Given the description of an element on the screen output the (x, y) to click on. 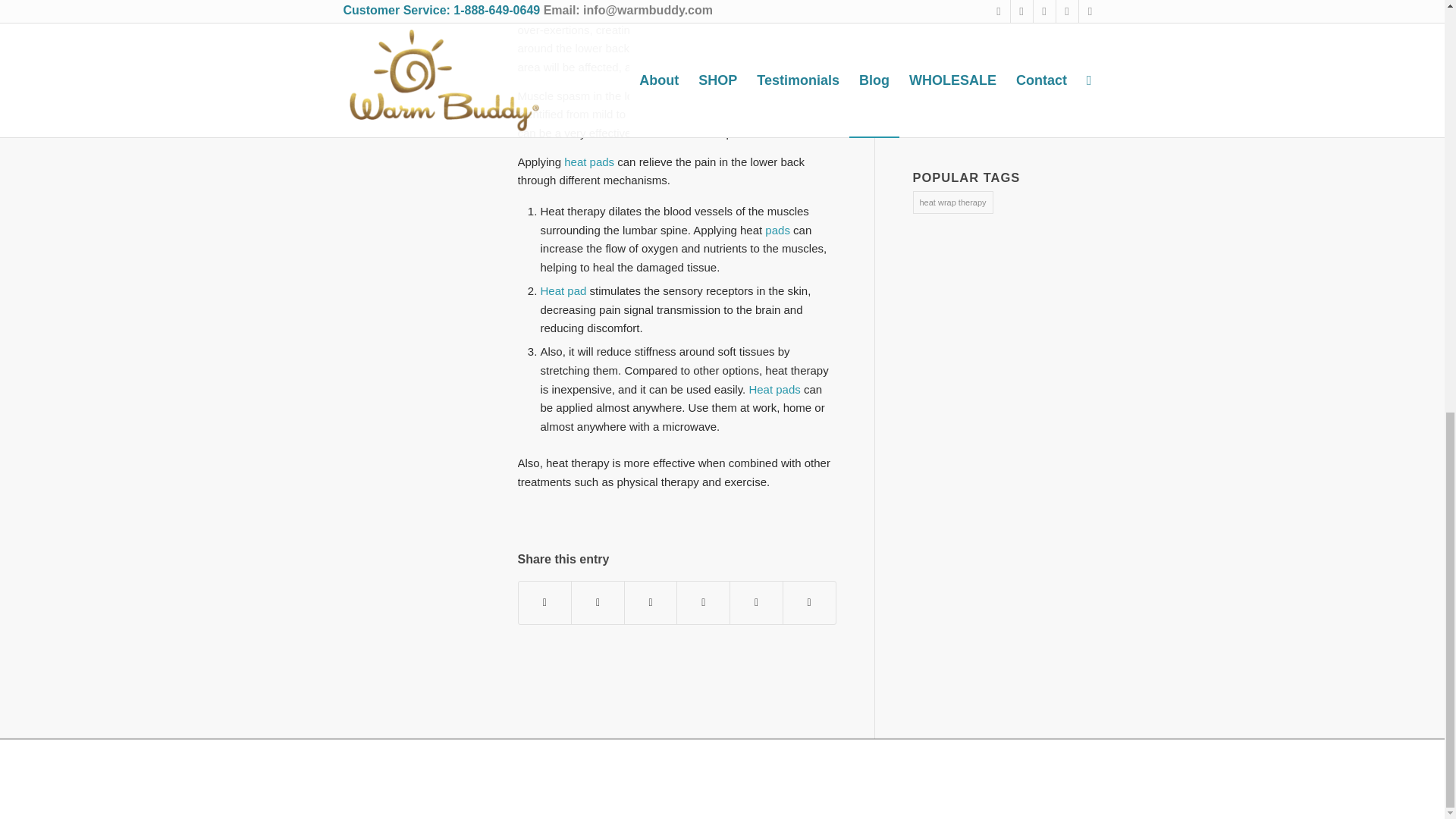
Heat pads (773, 389)
 pads (775, 229)
heat pads (589, 161)
Heat pad (563, 290)
